Given the description of an element on the screen output the (x, y) to click on. 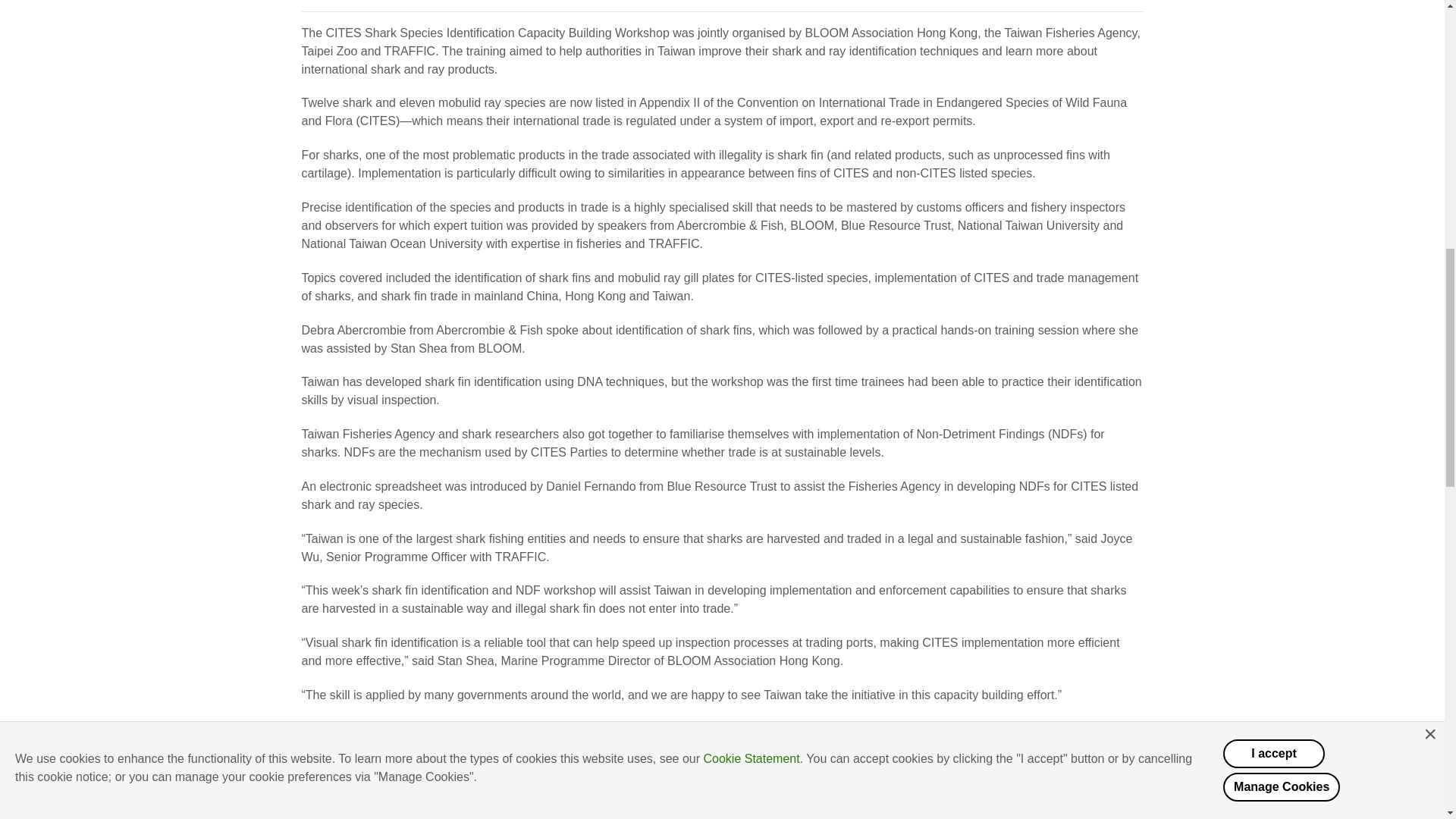
Shark Conservation Fund (698, 789)
